Given the description of an element on the screen output the (x, y) to click on. 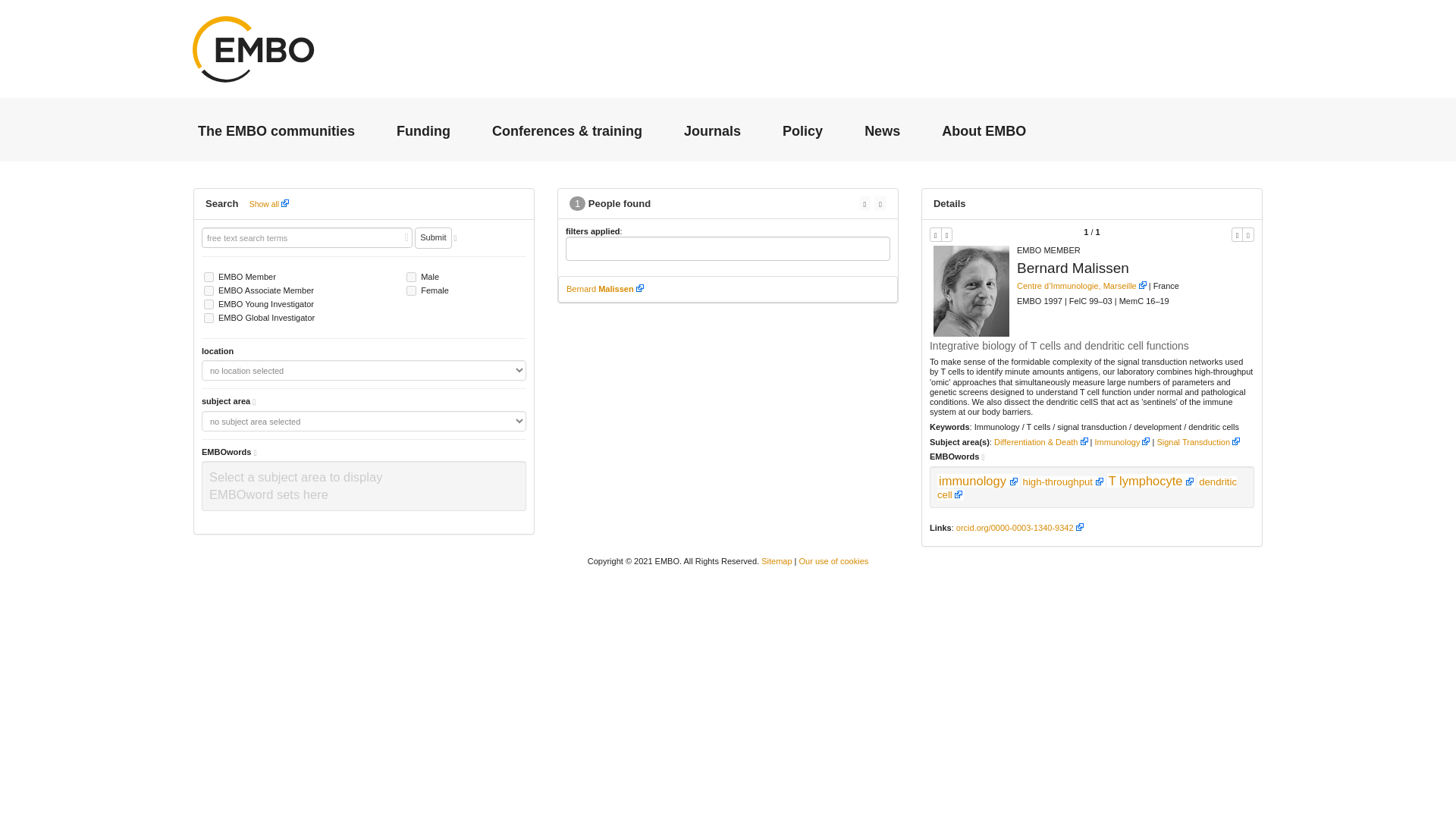
EMBO Associate Member (208, 290)
dendritic cell (1086, 487)
The EMBO communities (276, 129)
Journals (712, 129)
high-throughput (1063, 481)
Submit (432, 237)
Funding (422, 129)
Submit (432, 237)
News (881, 129)
EMBO Global Investigator (208, 317)
